Given the description of an element on the screen output the (x, y) to click on. 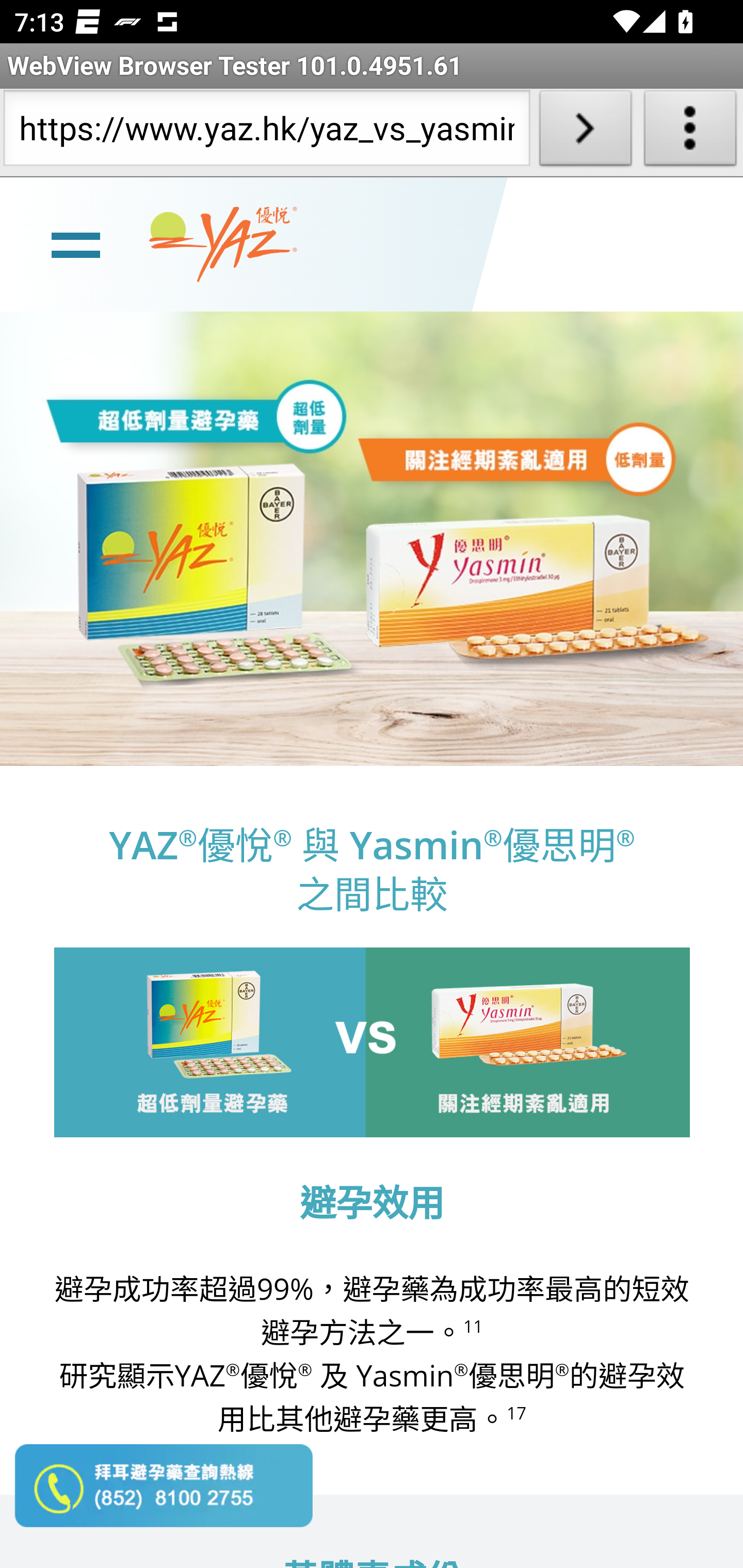
Load URL (585, 132)
About WebView (690, 132)
www.yaz (222, 244)
line Toggle burger menu (75, 242)
